Given the description of an element on the screen output the (x, y) to click on. 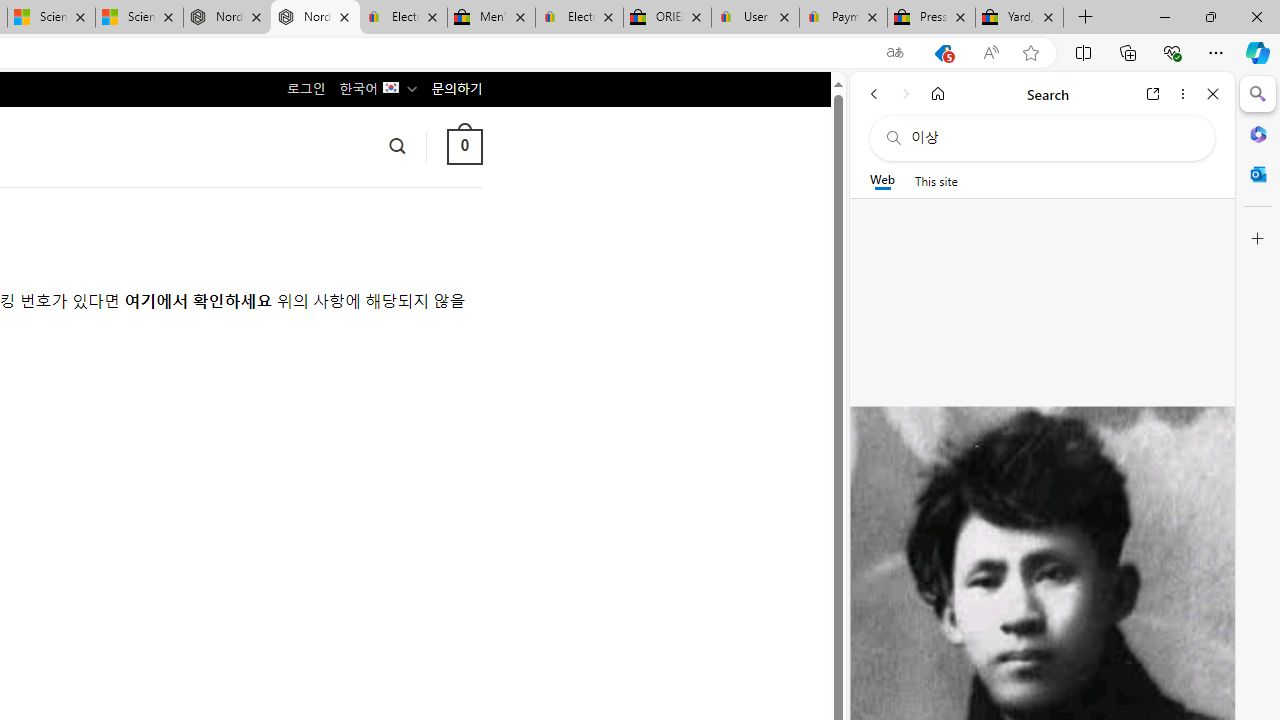
  0   (464, 146)
This site scope (936, 180)
 0  (464, 146)
This site has coupons! Shopping in Microsoft Edge, 5 (943, 53)
Open link in new tab (1153, 93)
